Given the description of an element on the screen output the (x, y) to click on. 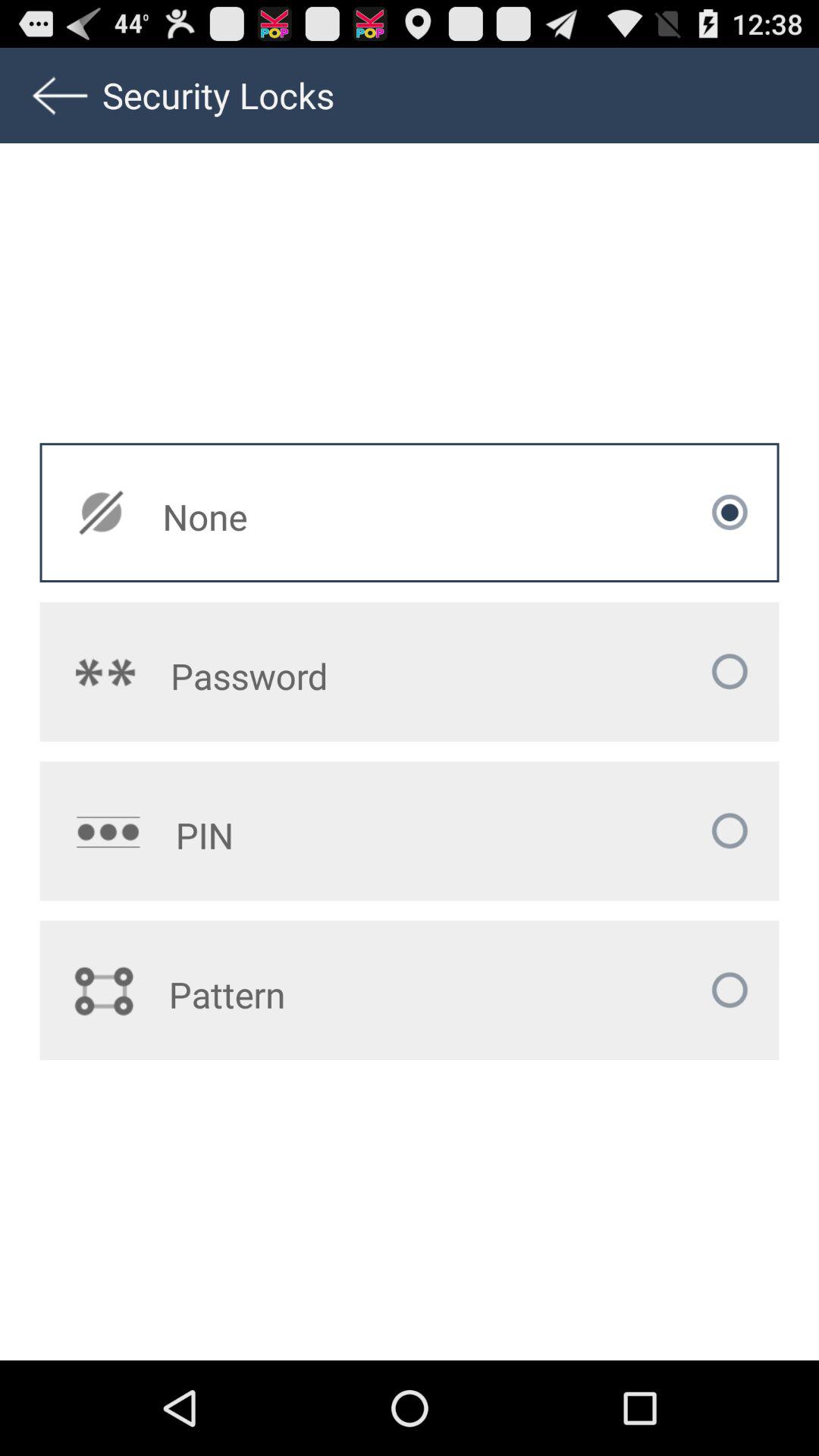
swipe until the none (311, 516)
